Given the description of an element on the screen output the (x, y) to click on. 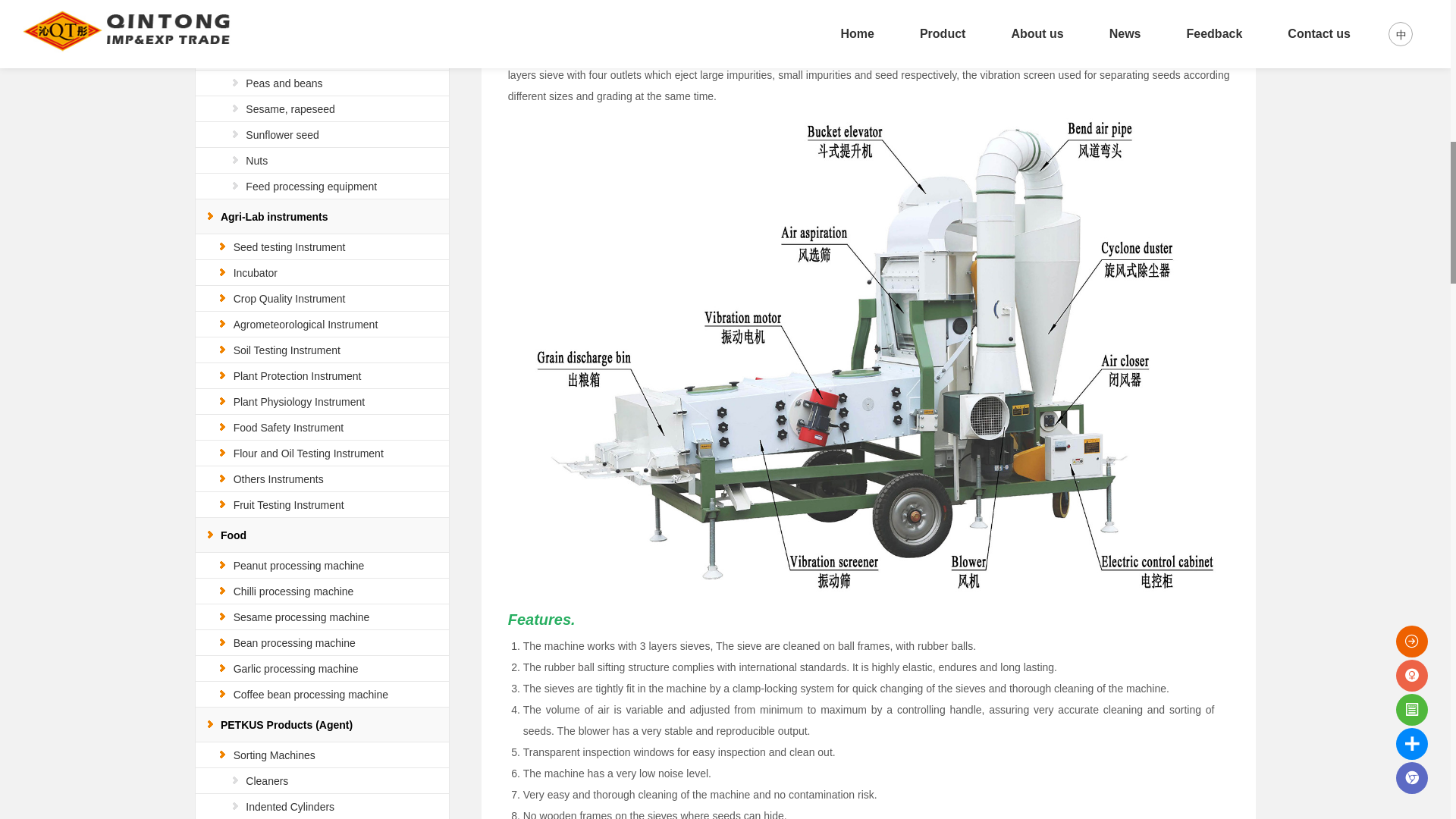
Agri-Lab instruments (275, 216)
Peas and beans (283, 82)
Nuts (256, 160)
Maize (259, 57)
Sesame, rapeseed (290, 109)
Feed processing equipment (311, 186)
Corp (244, 6)
Wheat, Paddy seed (291, 31)
Sunflower seed (282, 134)
ENTER (1372, 17)
